Given the description of an element on the screen output the (x, y) to click on. 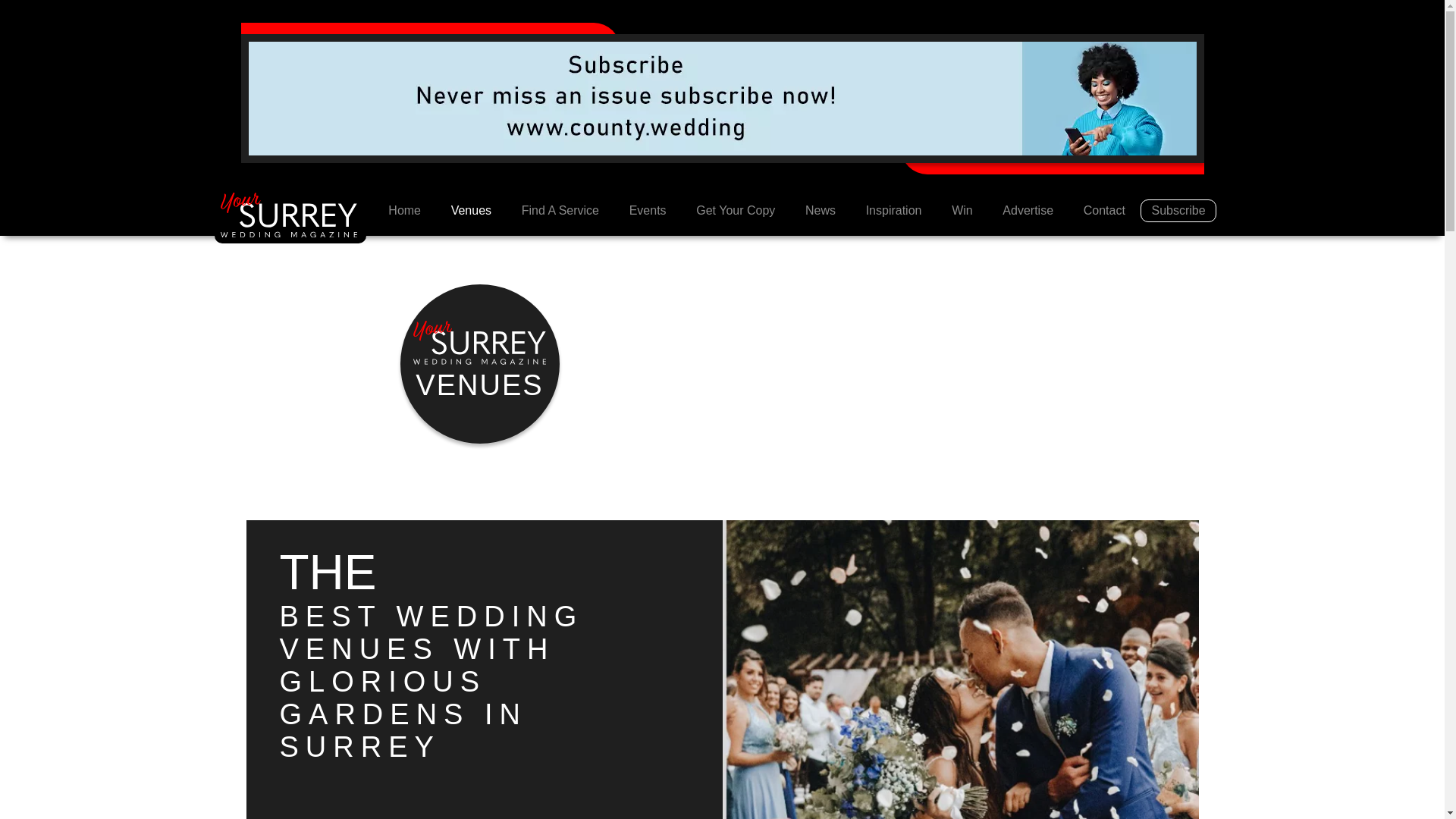
Get Your Copy (735, 210)
Subscribe to County Wedding Magazines for free (722, 97)
Your Surrey Wedding (403, 210)
Be inspired by Your Surrey Wedding magazine (893, 210)
Home (403, 210)
Venues (470, 210)
Contact (1104, 210)
Inspiration (893, 210)
Download your free copy of Your Surrey Wedding magazine (735, 210)
Find your dream wedding venue in Surrey (470, 210)
